Given the description of an element on the screen output the (x, y) to click on. 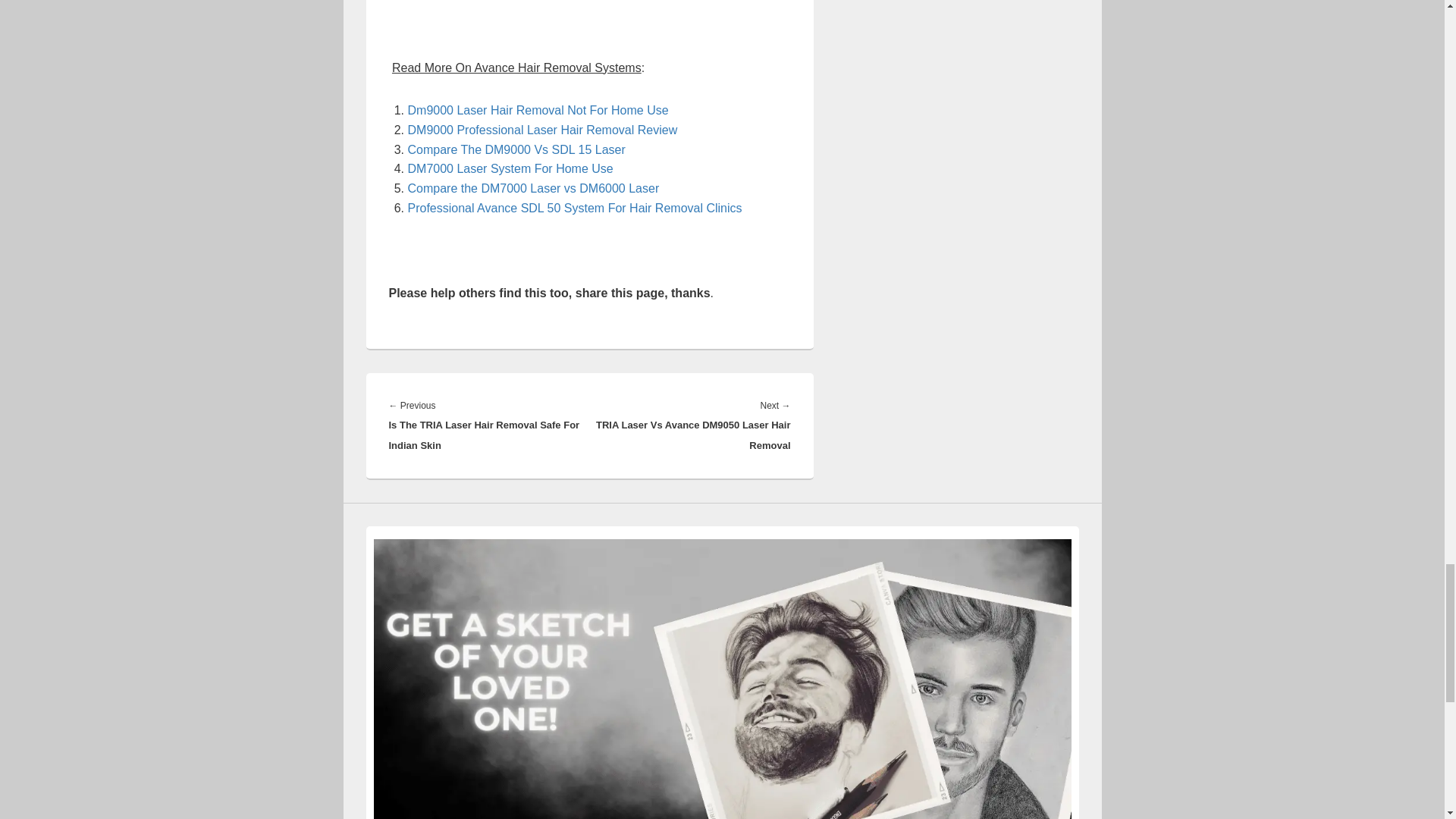
DM7000 Personal Laser Hair Removal System Review (509, 168)
DM9000 Hair Removal Laser Review (542, 129)
SDL15 Laser Hair Removal Vs DM9000 Laser System (516, 149)
DM7000 Laser System For Home Use (509, 168)
Dm9000 Laser Hair Removal Not For Home Use (537, 110)
Compare The DM9000 Vs SDL 15 Laser (516, 149)
Is The DM9000 Laser Safe For Home Use (537, 110)
Professional Avance SDL 50 System For Hair Removal Clinics (574, 207)
Compare the DM7000 Laser vs DM6000 Laser (533, 187)
DM9000 Professional Laser Hair Removal Review (542, 129)
